Given the description of an element on the screen output the (x, y) to click on. 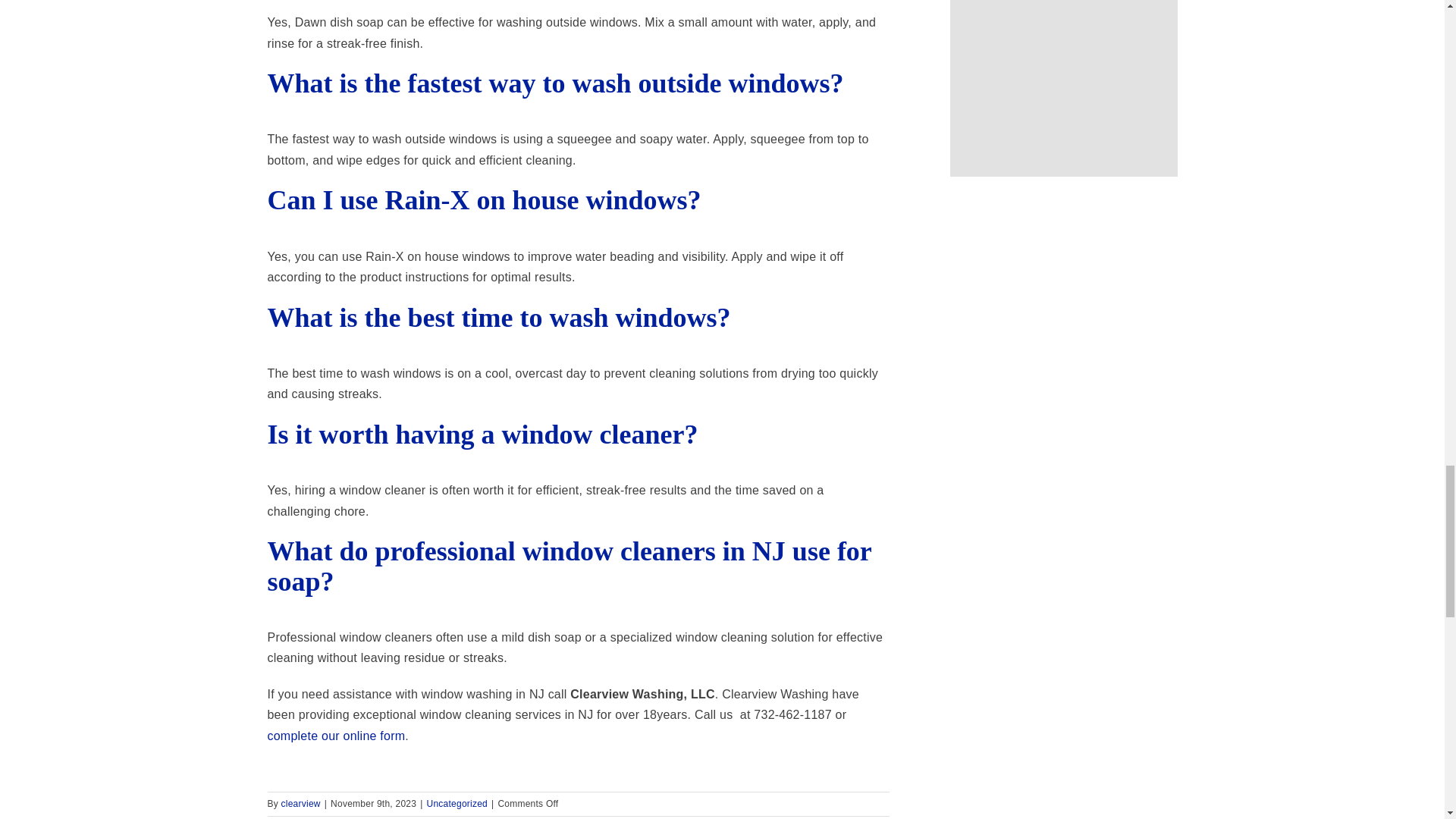
Posts by clearview (300, 803)
